Given the description of an element on the screen output the (x, y) to click on. 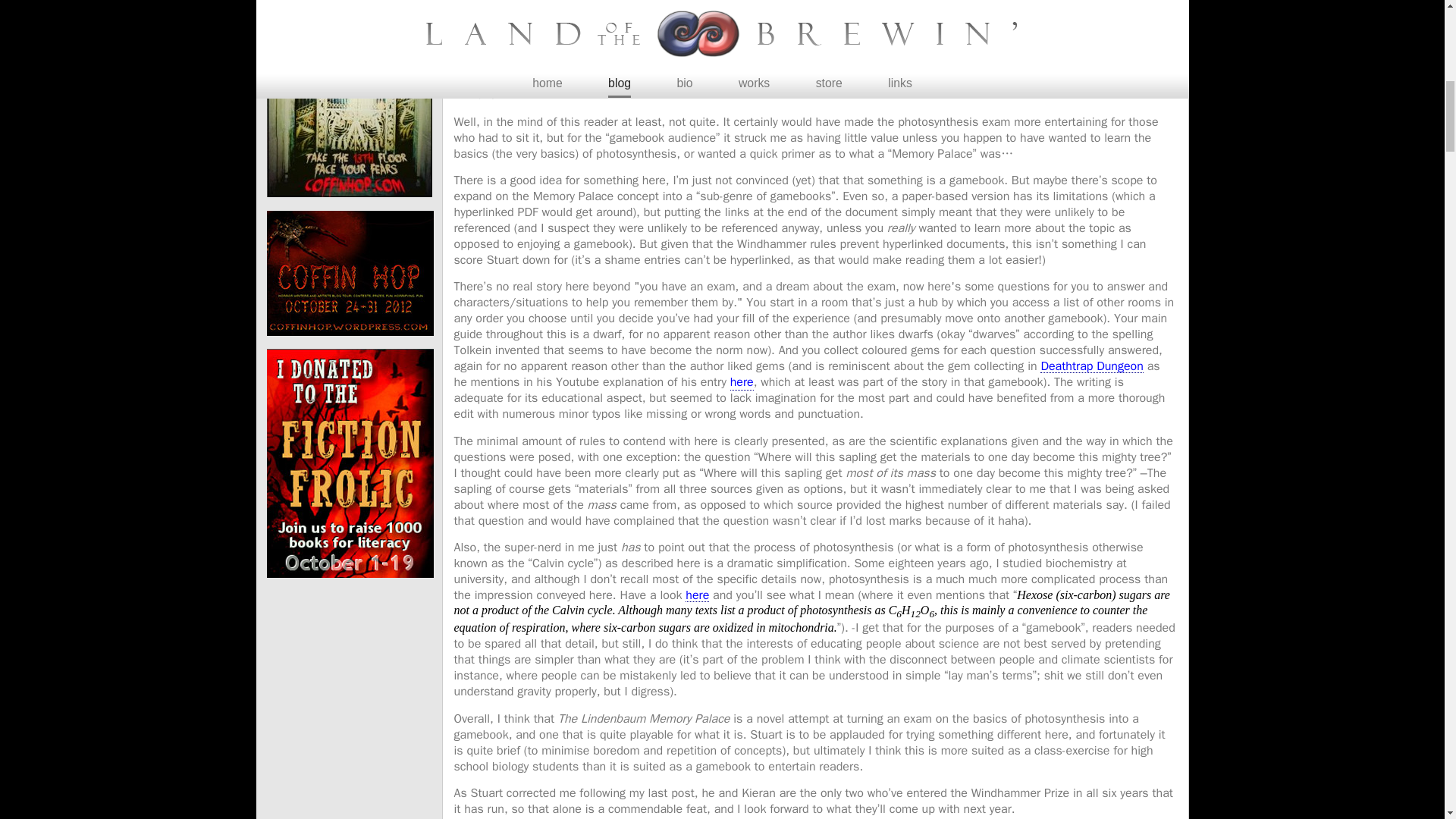
Deathtrap Dungeon (1091, 367)
here (697, 594)
here (742, 382)
